Given the description of an element on the screen output the (x, y) to click on. 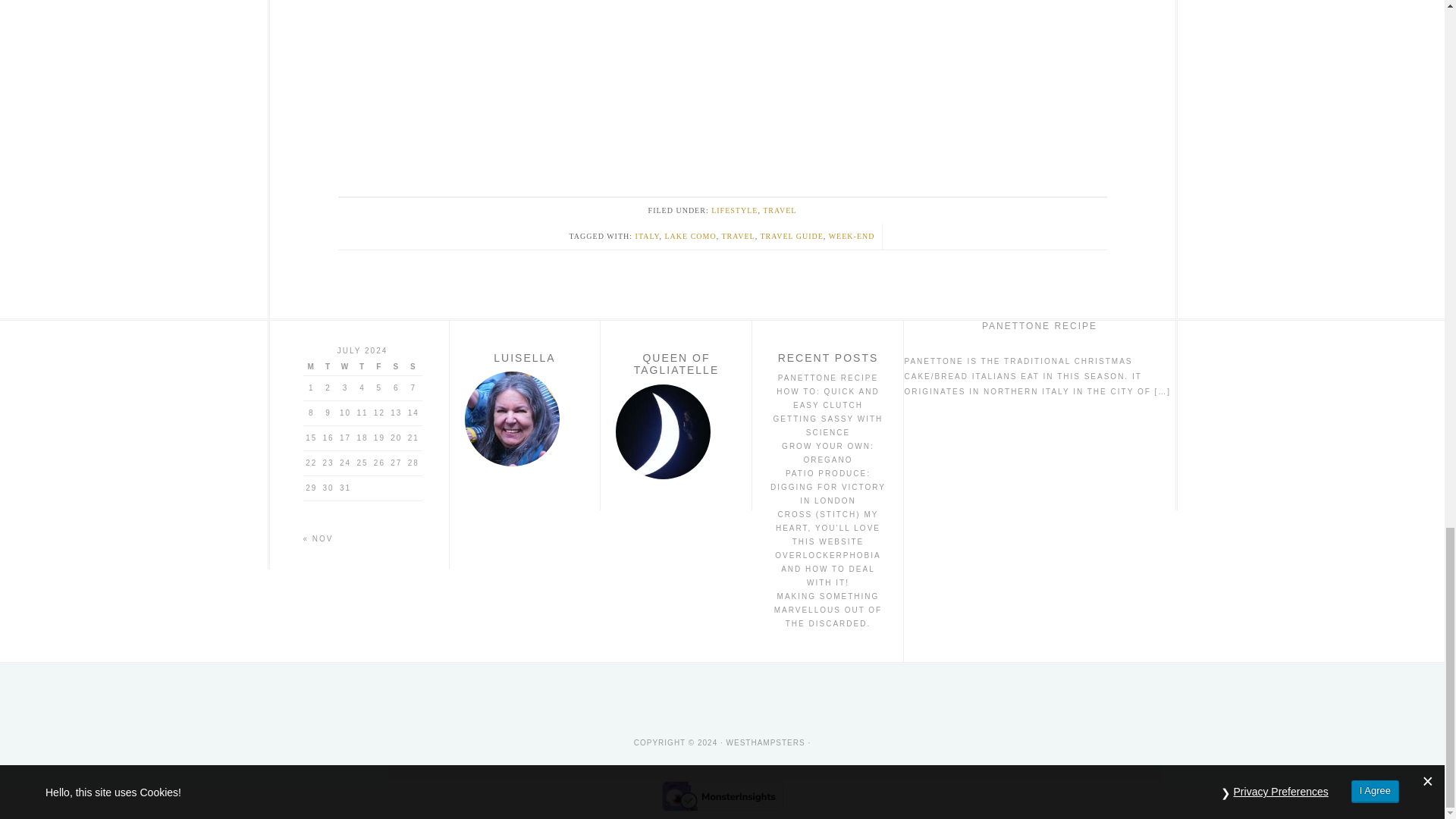
TRAVEL GUIDE (791, 235)
Saturday (396, 366)
Wednesday (344, 366)
TRAVEL (737, 235)
Thursday (362, 366)
HOW TO: QUICK AND EASY CLUTCH (827, 398)
GROW YOUR OWN: OREGANO (828, 453)
LAKE COMO (689, 235)
ITALY (646, 235)
PANETTONE RECIPE (827, 377)
Tuesday (328, 366)
PATIO PRODUCE: DIGGING FOR VICTORY IN LONDON (827, 487)
WEEK-END (851, 235)
Monday (311, 366)
Verified by MonsterInsights (722, 796)
